Given the description of an element on the screen output the (x, y) to click on. 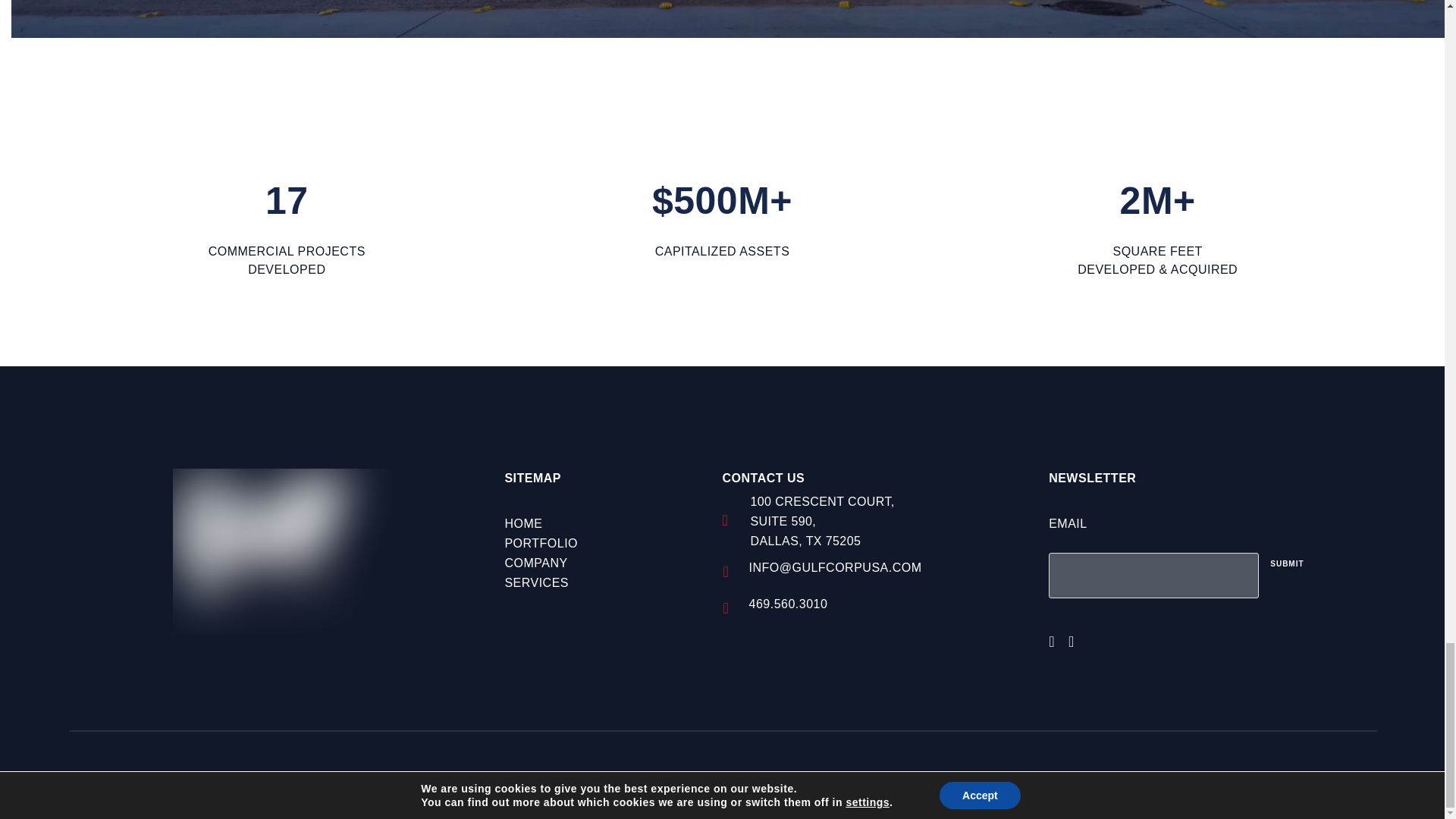
SERVICES (536, 582)
HOME (522, 522)
PORTFOLIO (540, 543)
COMPANY (535, 562)
469.560.3010 (787, 603)
SUBMIT (1286, 563)
